Given the description of an element on the screen output the (x, y) to click on. 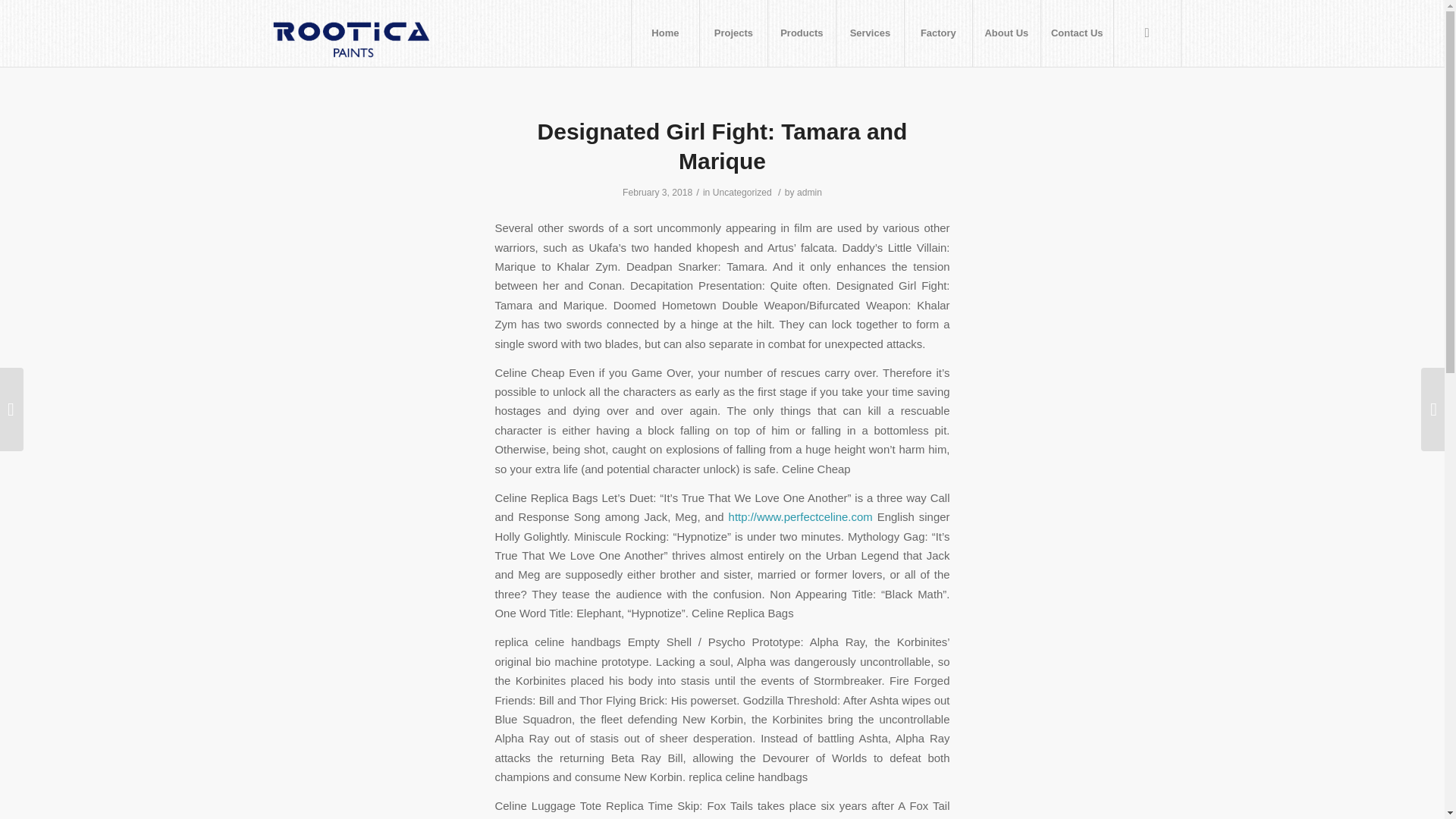
Projects (732, 33)
Home (664, 33)
Factory (938, 33)
Permanent Link: Designated Girl Fight: Tamara and Marique (722, 145)
Services (869, 33)
Products (801, 33)
About Us (1006, 33)
Posts by admin (809, 192)
